Given the description of an element on the screen output the (x, y) to click on. 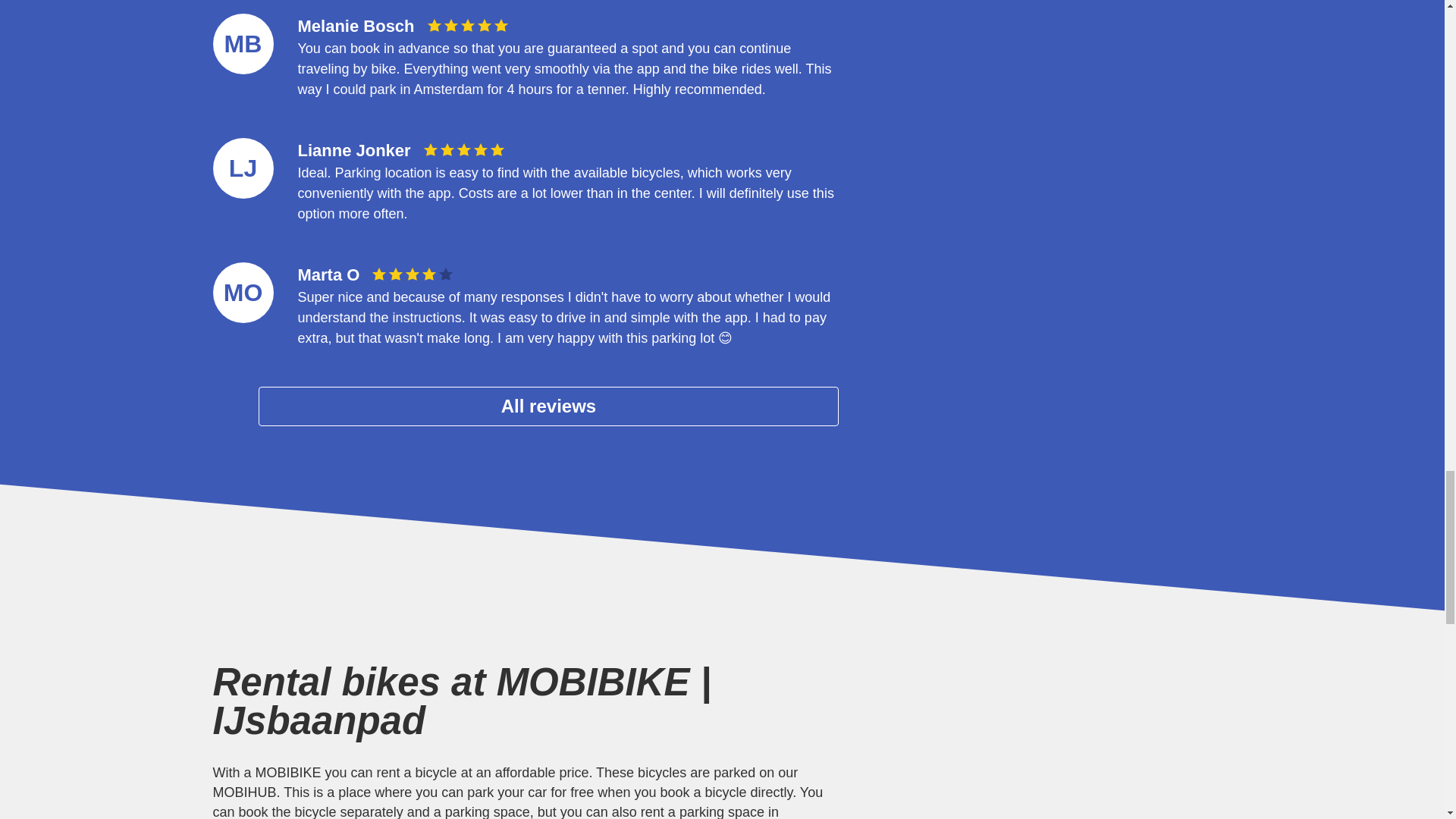
All reviews (547, 405)
